Given the description of an element on the screen output the (x, y) to click on. 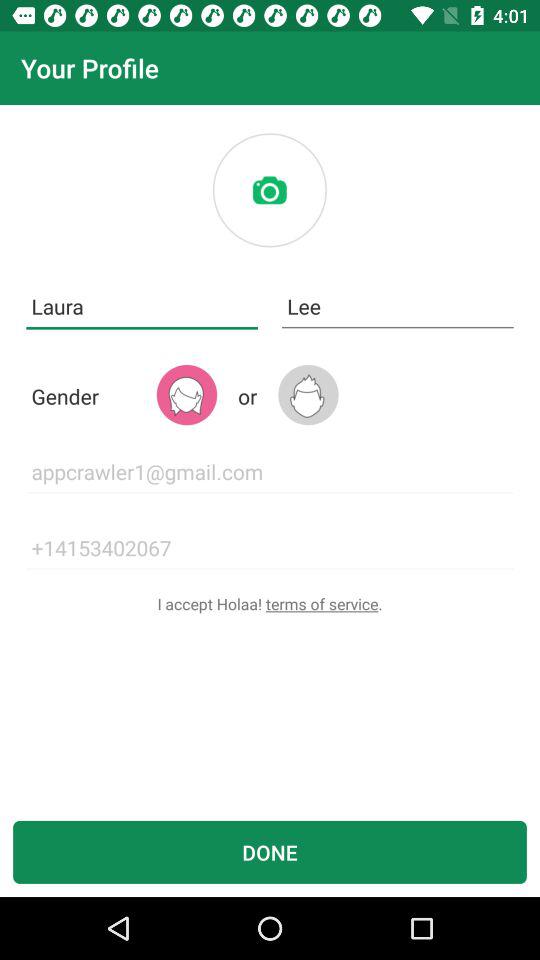
turn on the lee item (397, 306)
